Given the description of an element on the screen output the (x, y) to click on. 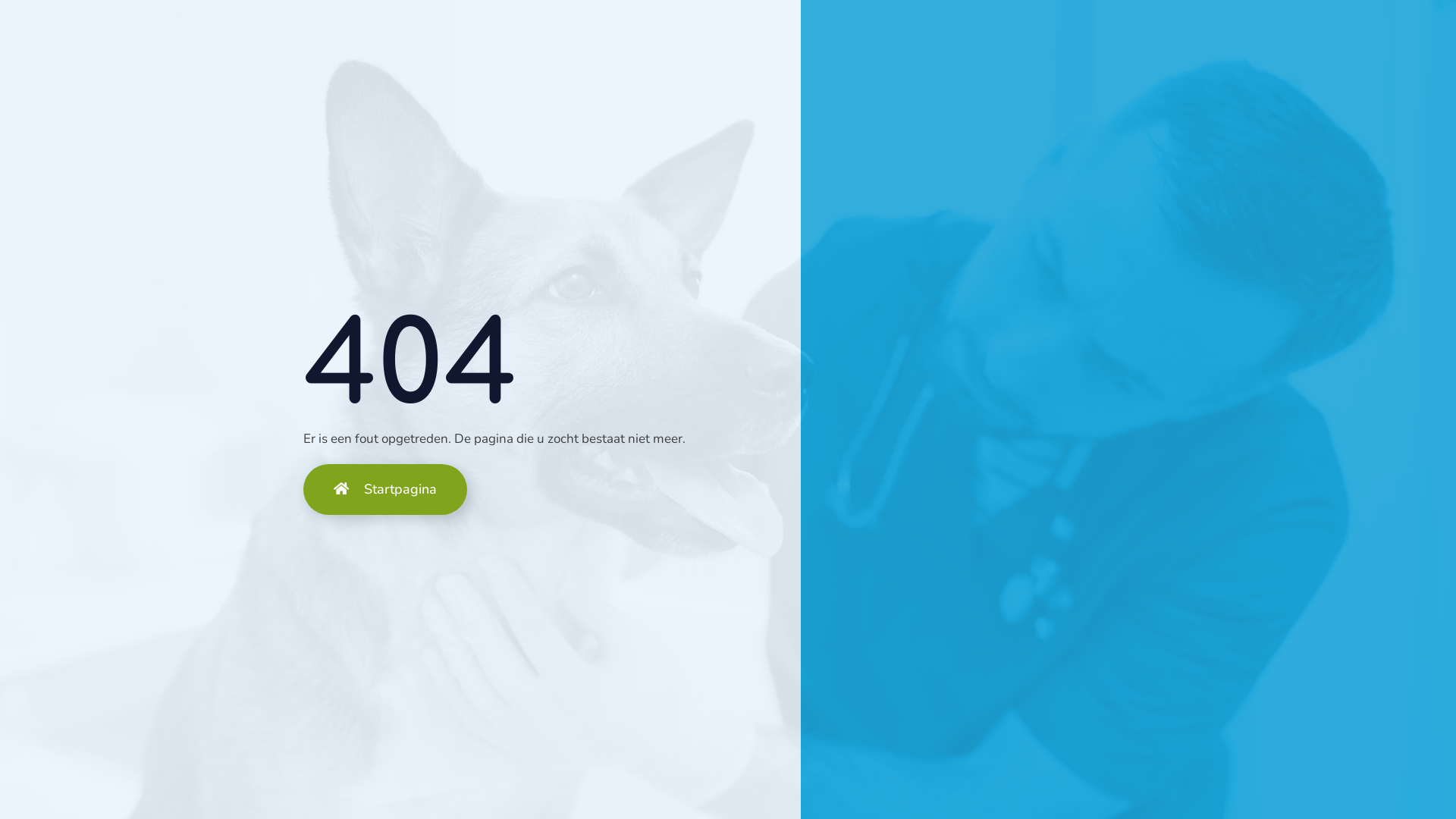
Startpagina Element type: text (385, 489)
